Given the description of an element on the screen output the (x, y) to click on. 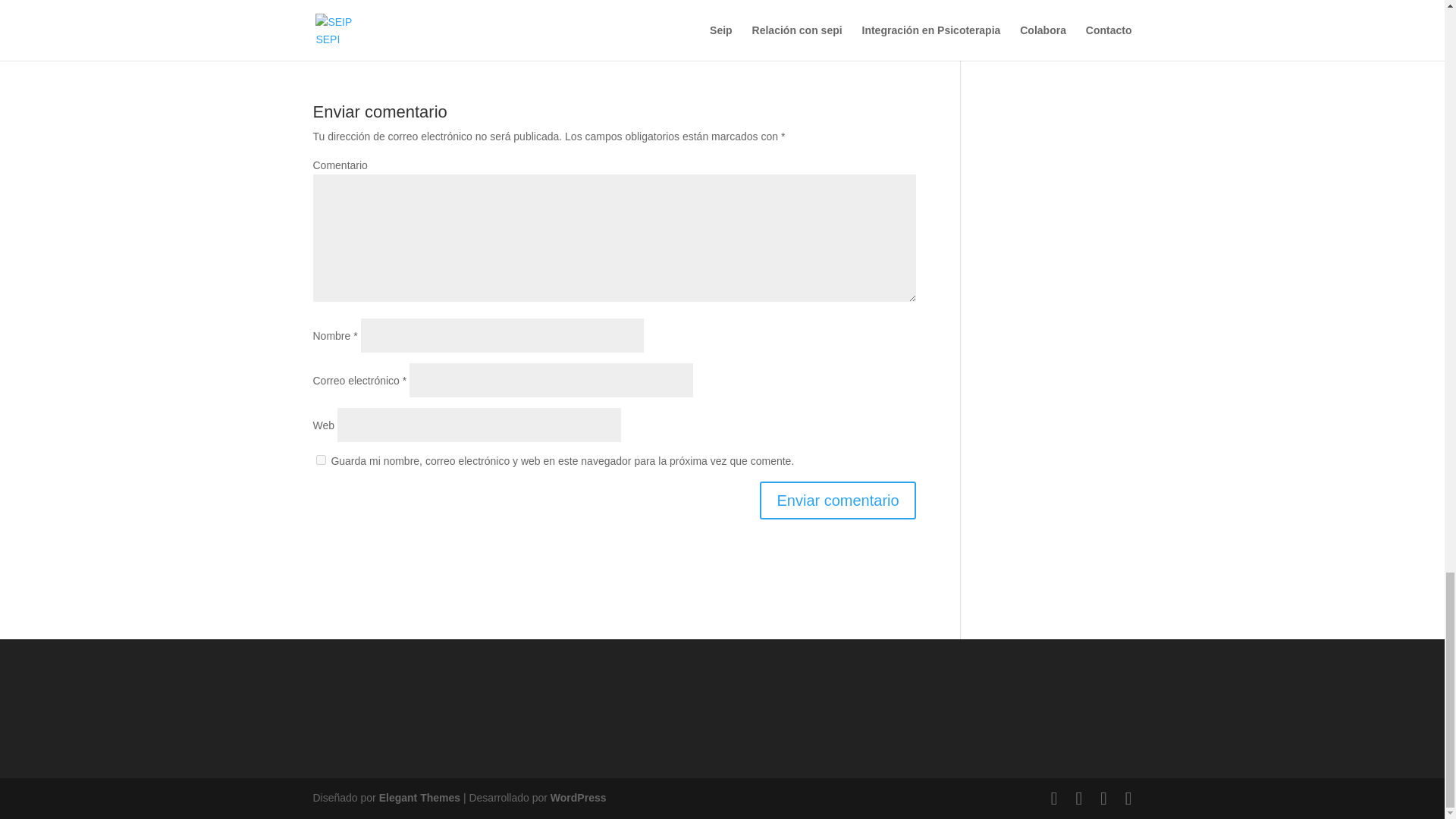
Enviar comentario (837, 500)
Premium WordPress Themes (419, 797)
yes (319, 460)
Enviar comentario (837, 500)
